Given the description of an element on the screen output the (x, y) to click on. 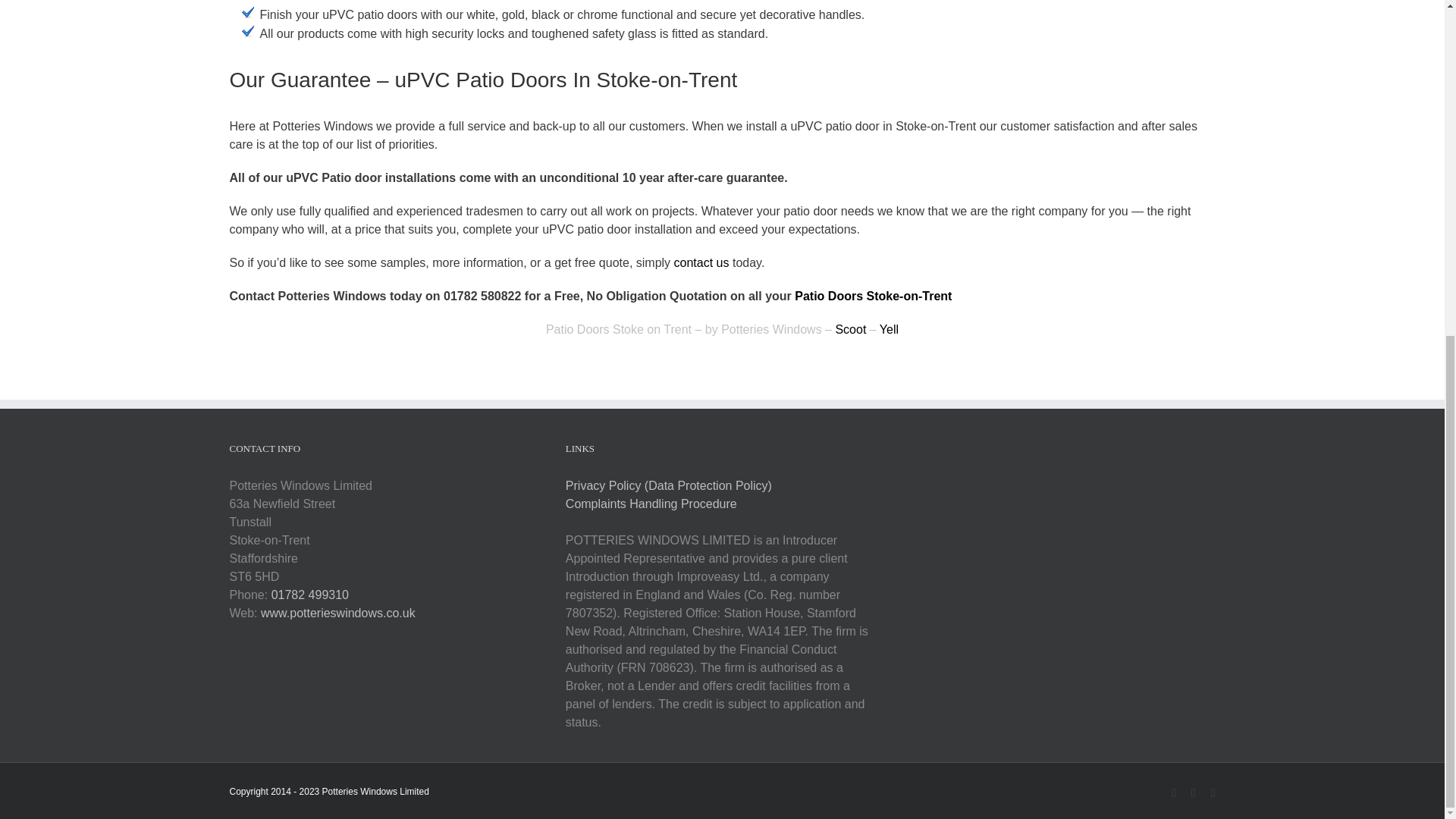
Scoot (850, 328)
www.potterieswindows.co.uk (337, 612)
contact us (701, 262)
Patio Doors Stoke-on-Trent (873, 295)
01782 499310 (309, 594)
Yell (888, 328)
